Given the description of an element on the screen output the (x, y) to click on. 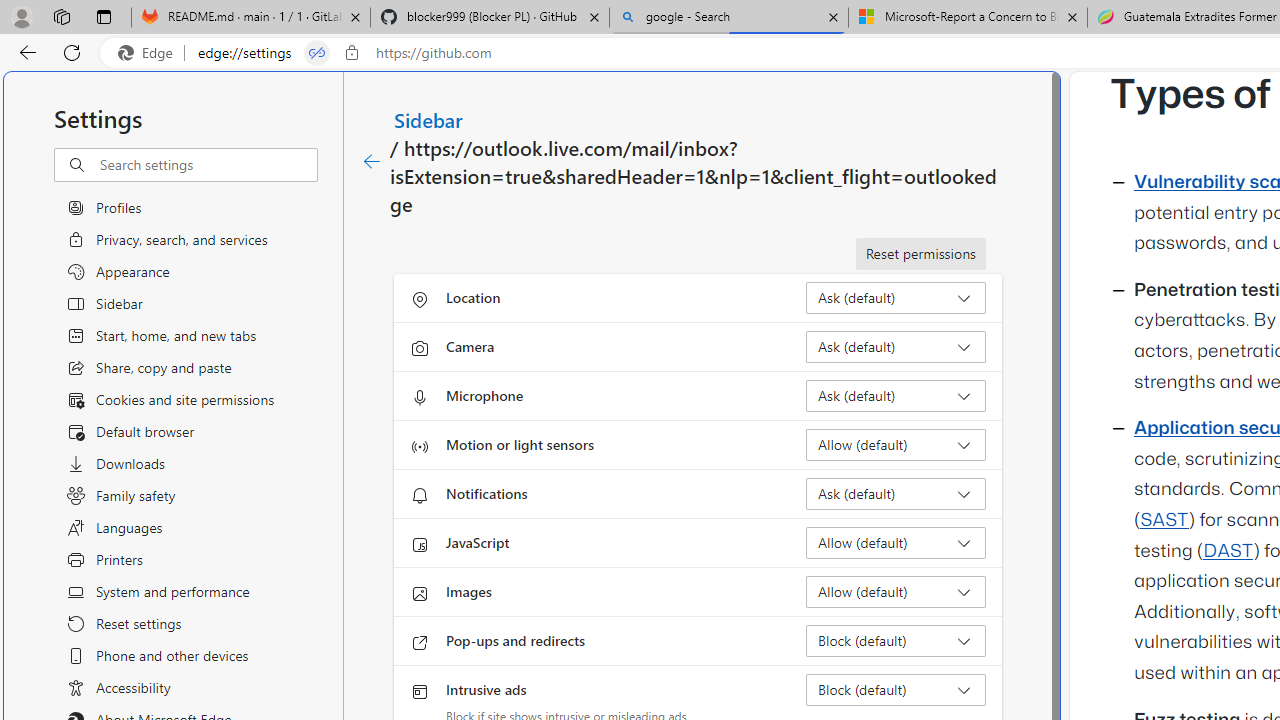
Notifications Ask (default) (895, 493)
Pop-ups and redirects Block (default) (895, 640)
Edge (150, 53)
Sidebar (429, 119)
Location Ask (default) (895, 297)
JavaScript Allow (default) (895, 542)
SAST (1164, 520)
Microphone Ask (default) (895, 395)
Search settings (207, 165)
DAST (1228, 551)
